Given the description of an element on the screen output the (x, y) to click on. 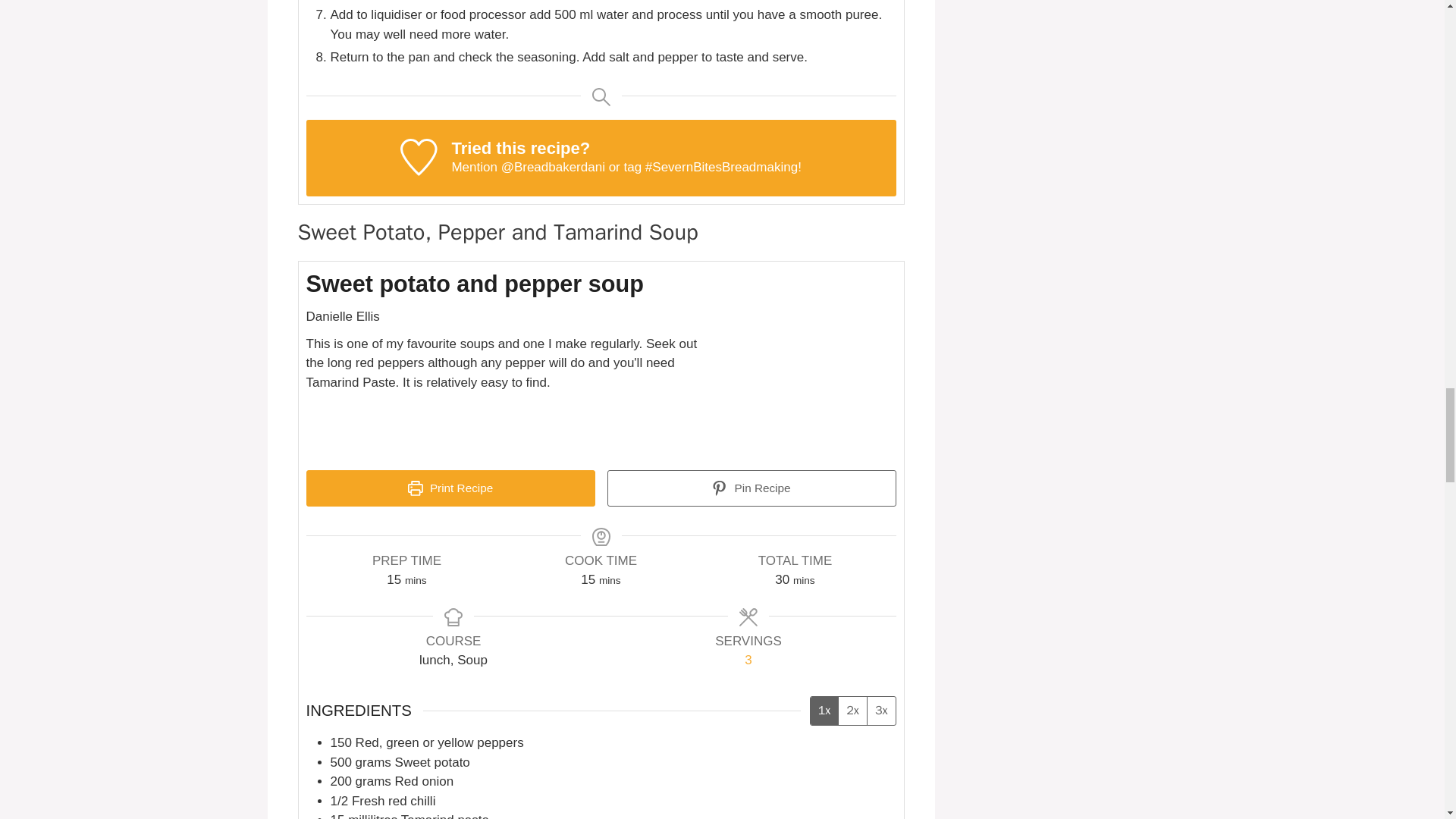
1x (824, 710)
3x (880, 710)
2x (852, 710)
Pin Recipe (751, 488)
Print Recipe (450, 488)
3 (748, 660)
